Given the description of an element on the screen output the (x, y) to click on. 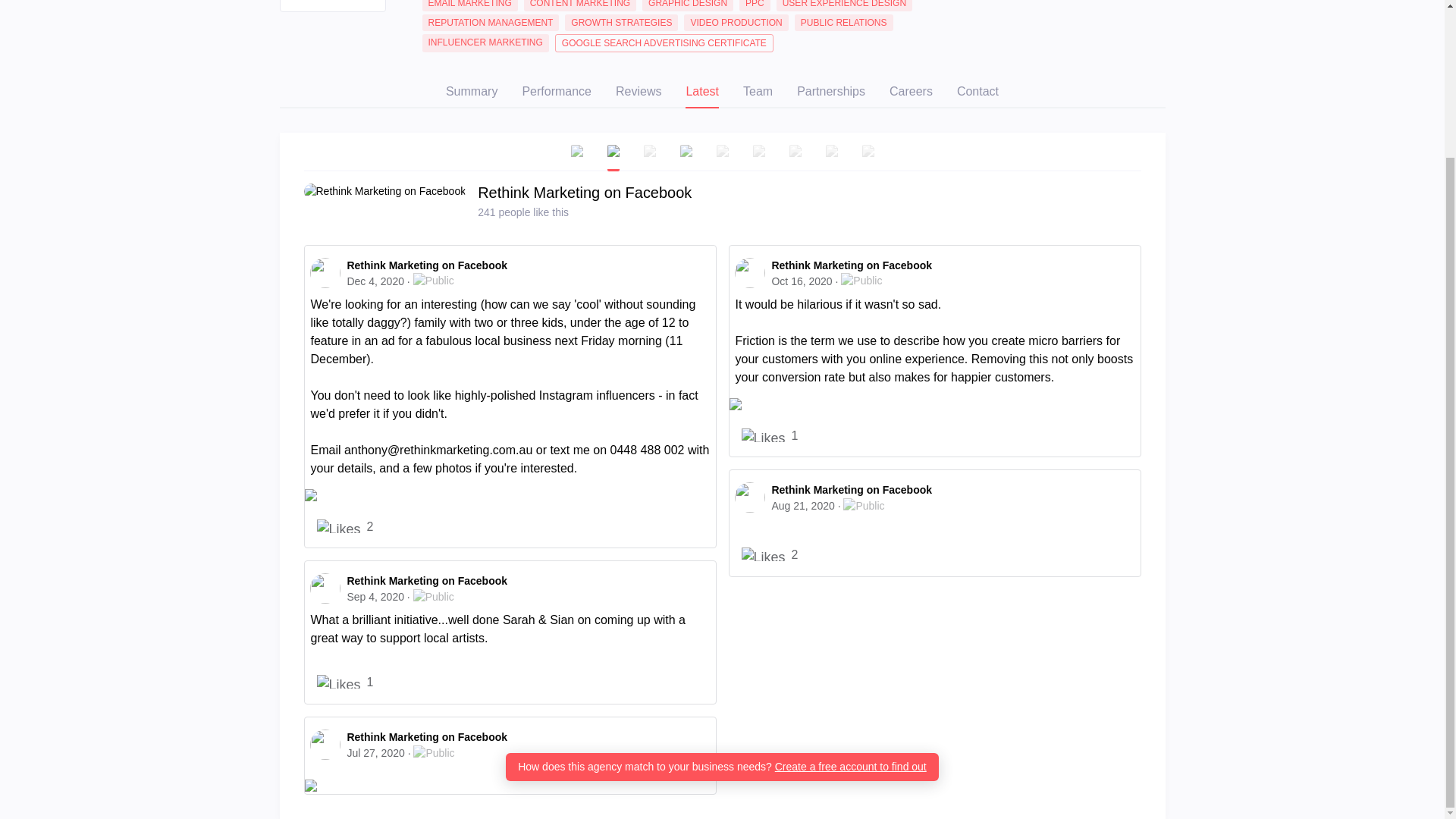
Summary (471, 92)
Rethink Marketing on Facebook (426, 265)
Partnerships (830, 92)
Contact (977, 92)
Performance (556, 92)
Rethink Marketing on Facebook (426, 580)
Rethink Marketing on Facebook (851, 489)
Careers (911, 92)
Rethink Marketing on Facebook (851, 265)
Rethink Marketing on Facebook (584, 192)
